Given the description of an element on the screen output the (x, y) to click on. 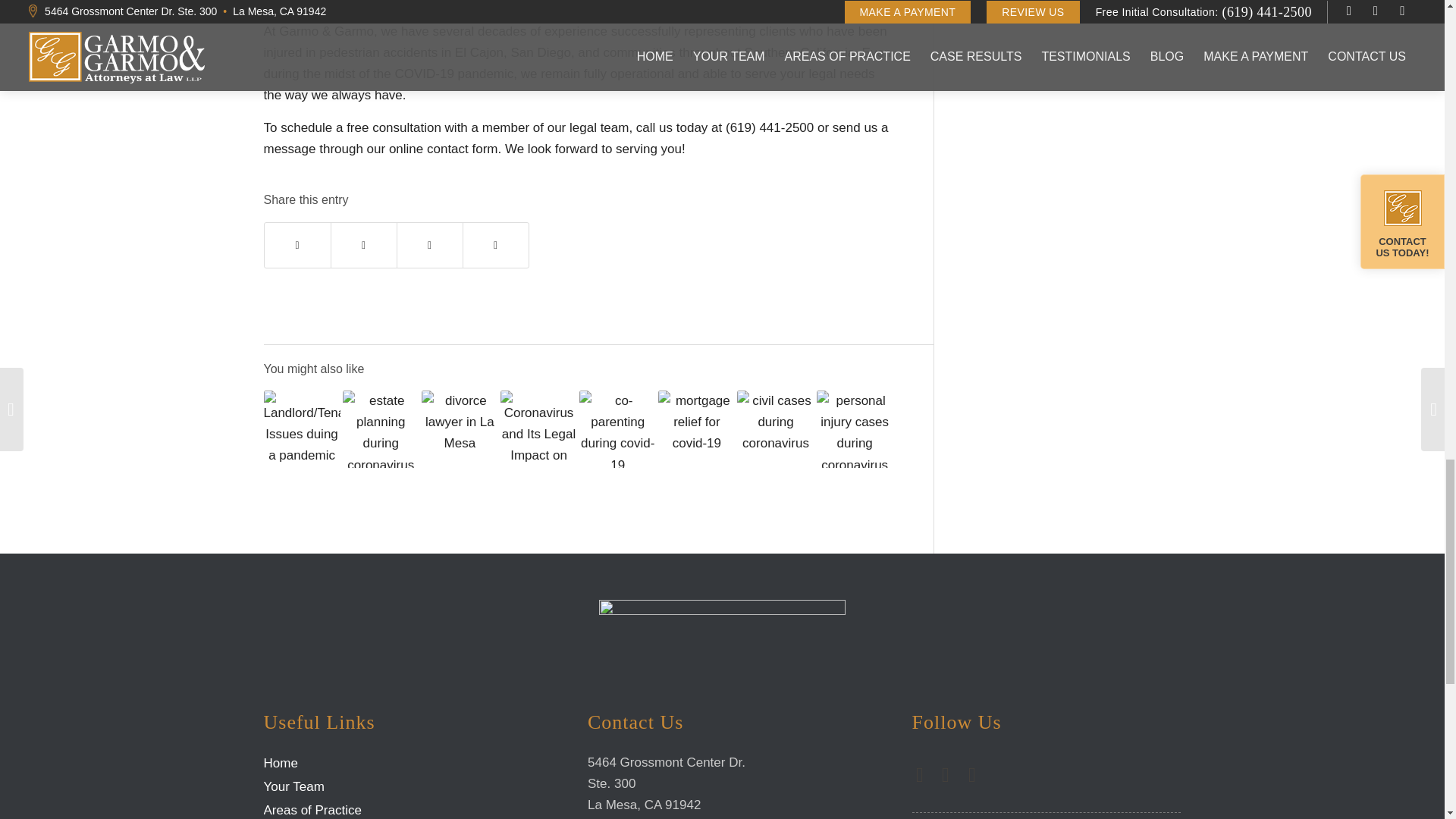
Estate Planning in a COVID-19 World (380, 428)
